Given the description of an element on the screen output the (x, y) to click on. 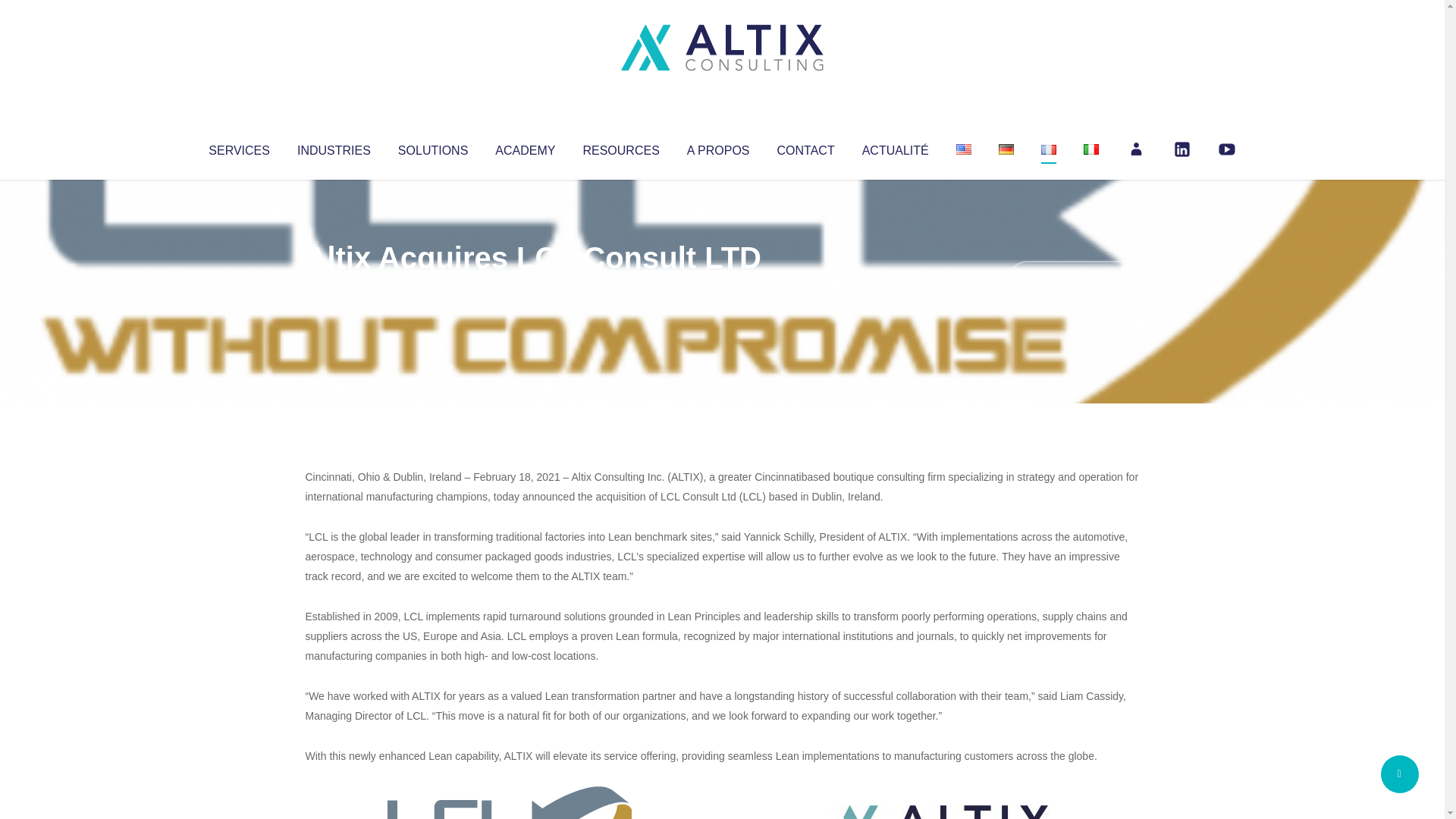
Uncategorized (530, 287)
RESOURCES (620, 146)
SERVICES (238, 146)
Articles par Altix (333, 287)
No Comments (1073, 278)
SOLUTIONS (432, 146)
Altix (333, 287)
INDUSTRIES (334, 146)
ACADEMY (524, 146)
A PROPOS (718, 146)
